Given the description of an element on the screen output the (x, y) to click on. 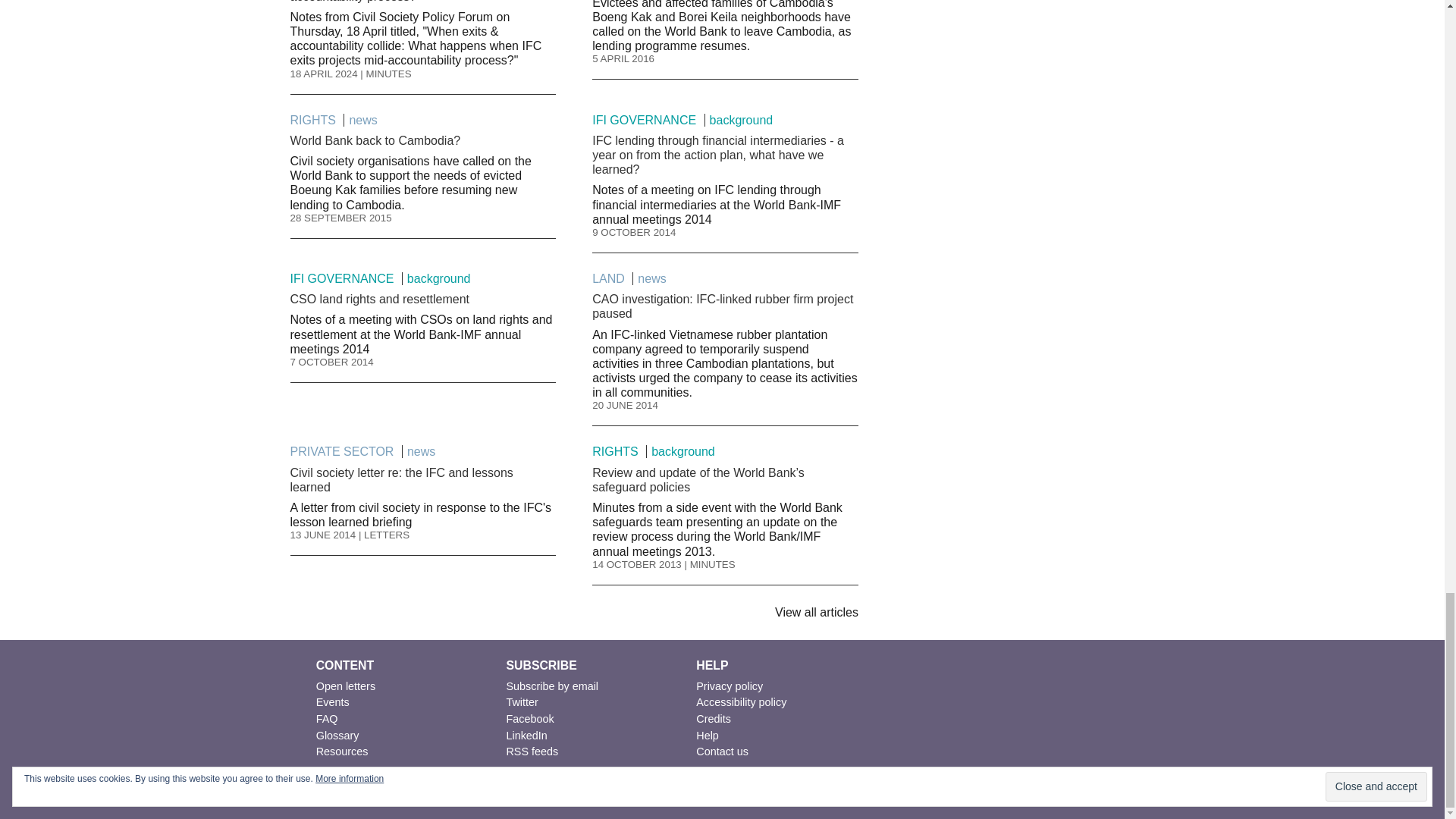
CAO investigation: IFC-linked rubber firm project paused (716, 348)
World Bank back to Cambodia? (431, 176)
Civil society letter re: the IFC and lessons learned (431, 499)
CSO land rights and resettlement (431, 327)
Eggs thrown at World Bank Cambodia headquarters (716, 44)
